Given the description of an element on the screen output the (x, y) to click on. 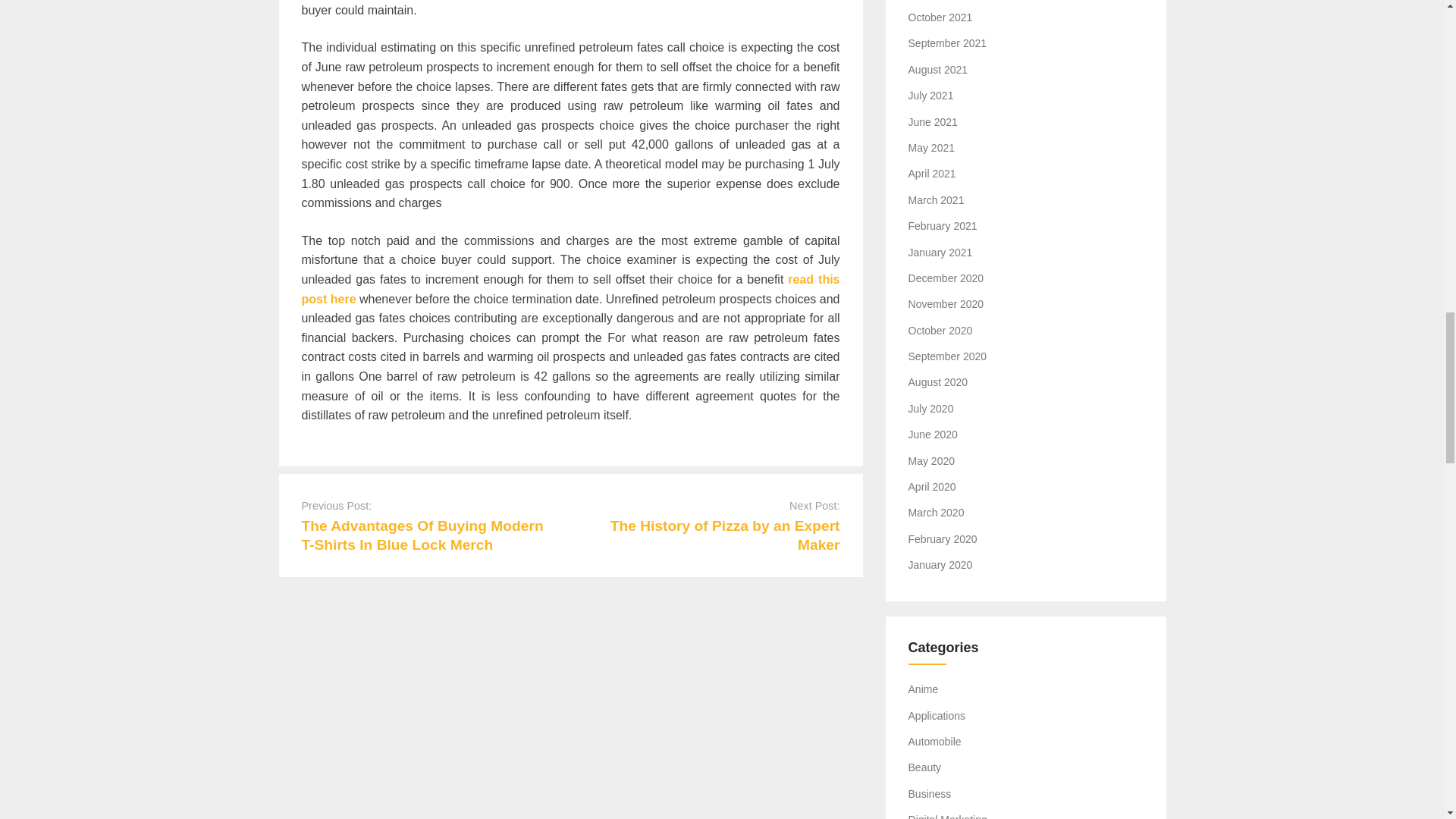
The History of Pizza by an Expert Maker (725, 534)
The Advantages Of Buying Modern T-Shirts In Blue Lock Merch (422, 534)
read this post here (570, 288)
